Given the description of an element on the screen output the (x, y) to click on. 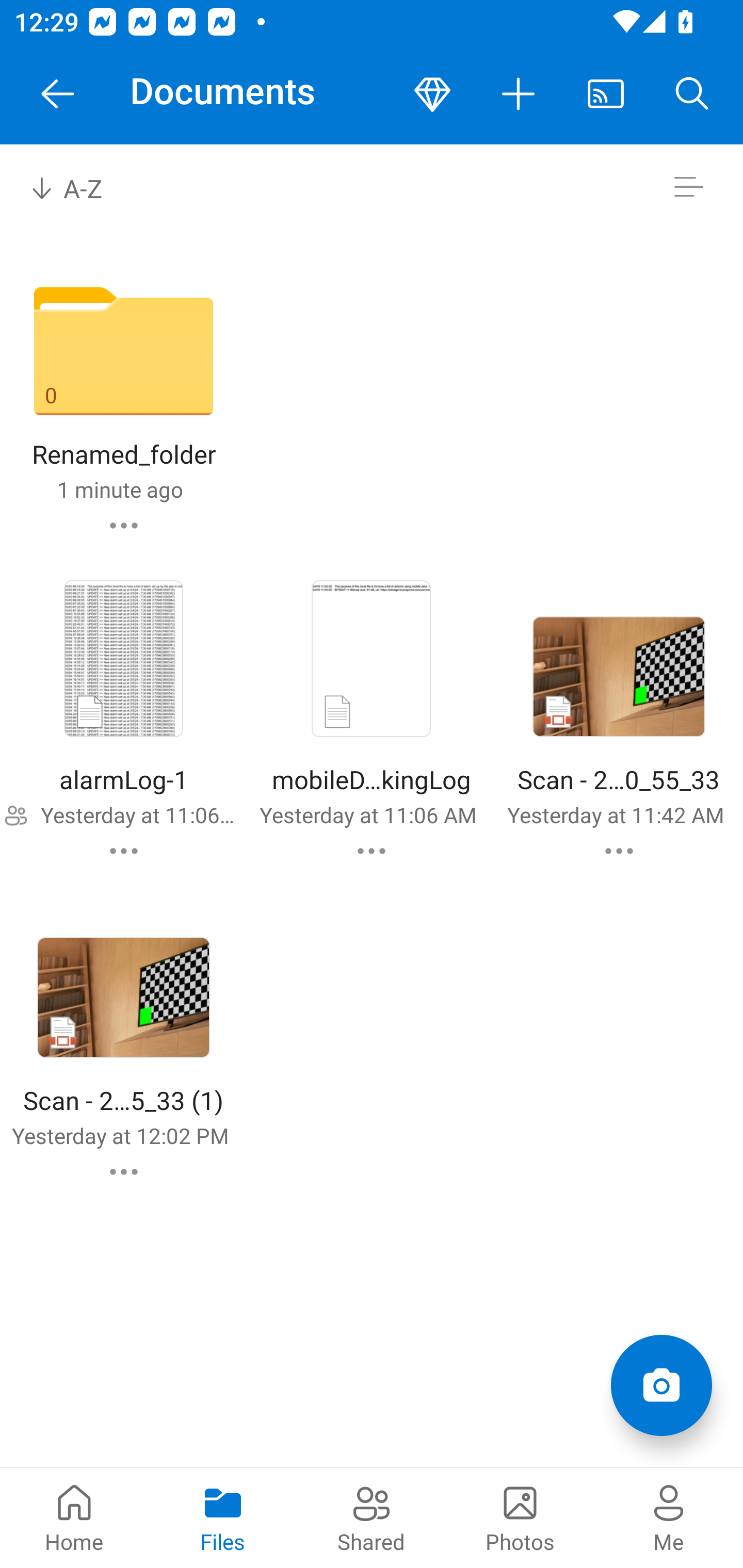
Navigate Up (57, 93)
Cast. Disconnected (605, 93)
Premium button (432, 93)
More actions button (518, 93)
Search button (692, 93)
A-Z Sort by combo box, sort by name, A to Z (80, 187)
Switch to list view (688, 187)
1 minute ago (120, 489)
Renamed_folder commands (123, 525)
Yesterday at 11:06 AM (137, 814)
Yesterday at 11:06 AM (367, 814)
Yesterday at 11:42 AM (614, 814)
alarmLog-1 commands (123, 851)
mobileDataTrackingLog commands (371, 851)
Scan - 2024-03-28 10_55_33 commands (618, 851)
Yesterday at 12:02 PM (119, 1135)
Scan - 2024-03-28 10_55_33 (1) commands (123, 1171)
Add items Scan (660, 1385)
Home pivot Home (74, 1517)
Shared pivot Shared (371, 1517)
Photos pivot Photos (519, 1517)
Me pivot Me (668, 1517)
